Given the description of an element on the screen output the (x, y) to click on. 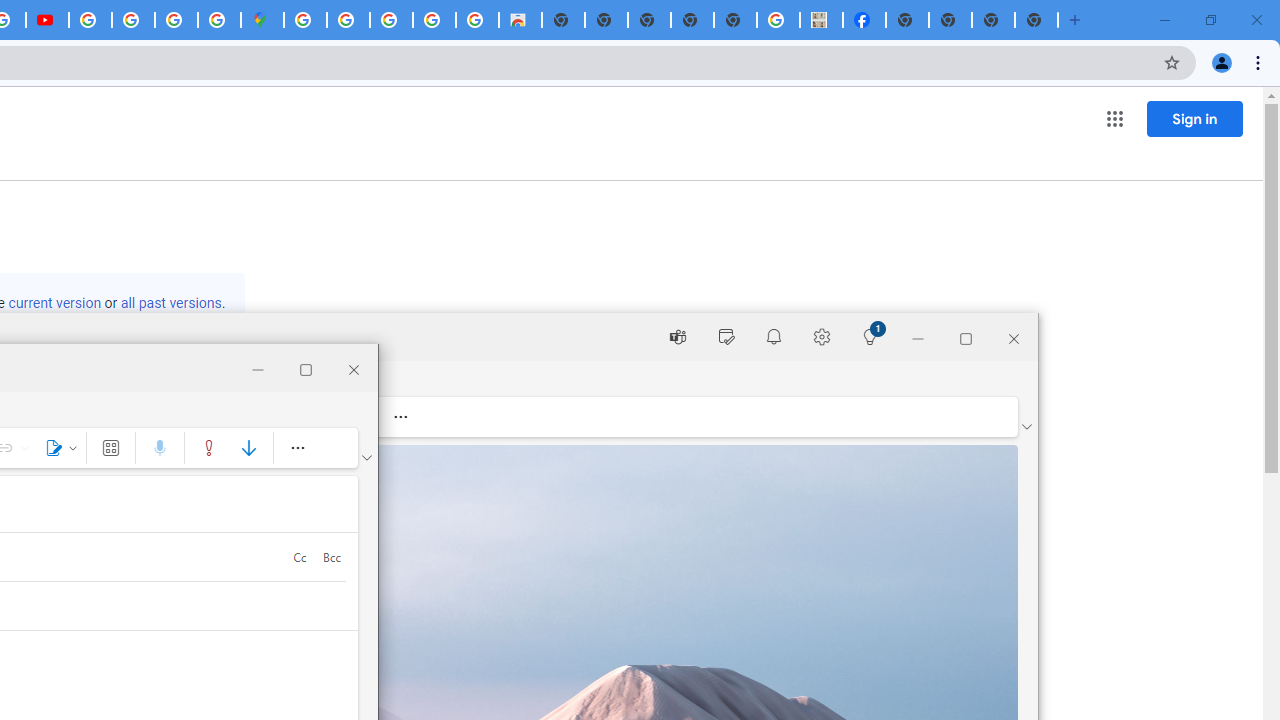
Teams (677, 336)
Signature (57, 447)
Apps (110, 447)
